Given the description of an element on the screen output the (x, y) to click on. 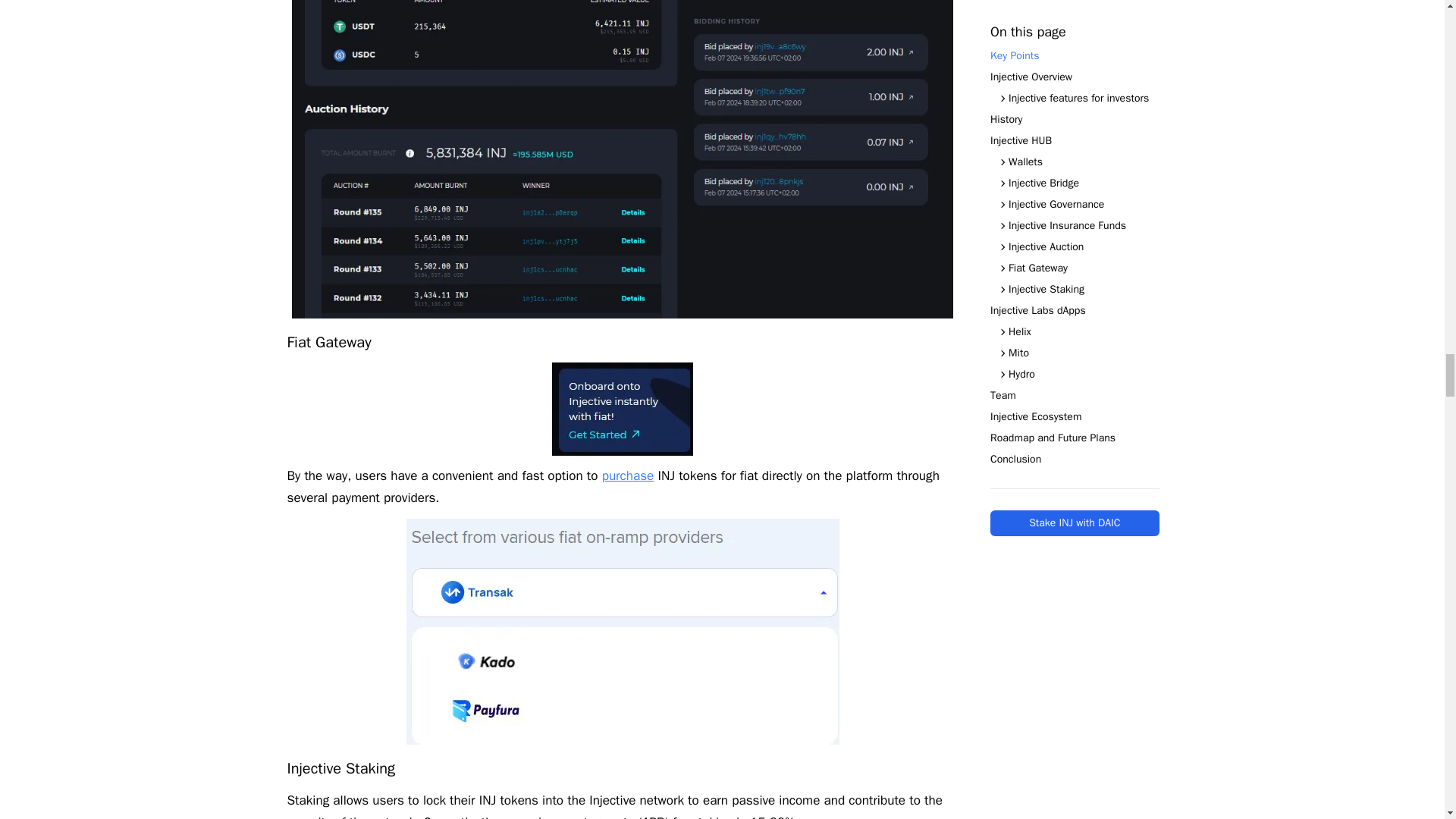
purchase (627, 475)
